Given the description of an element on the screen output the (x, y) to click on. 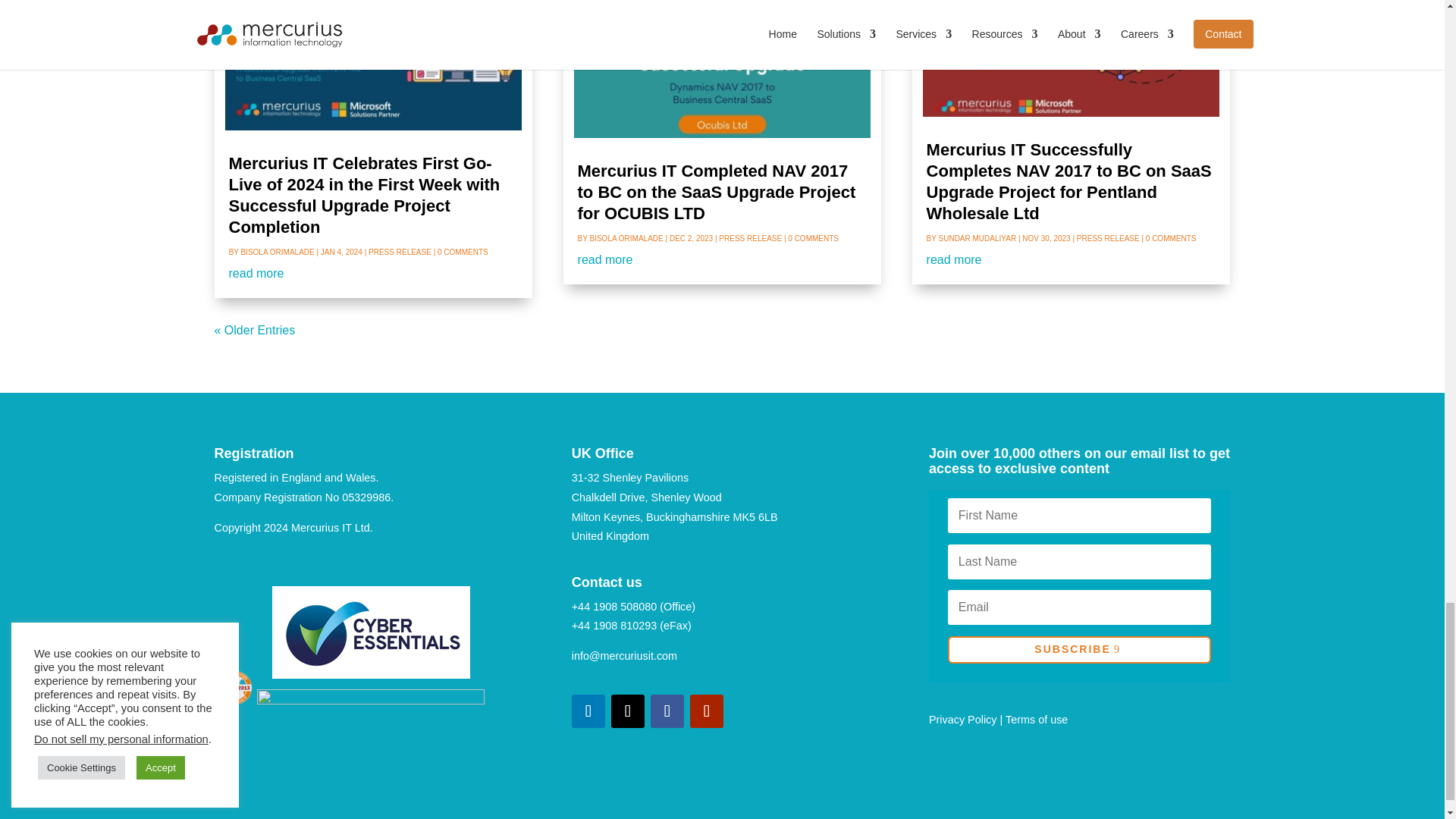
Follow on Facebook (667, 711)
Posts by Bisola Orimalade (277, 252)
Posts by Bisola Orimalade (625, 238)
Follow on Youtube (706, 711)
Follow on LinkedIn (588, 711)
Follow on Twitter (628, 711)
Posts by Sundar Mudaliyar (977, 238)
